Given the description of an element on the screen output the (x, y) to click on. 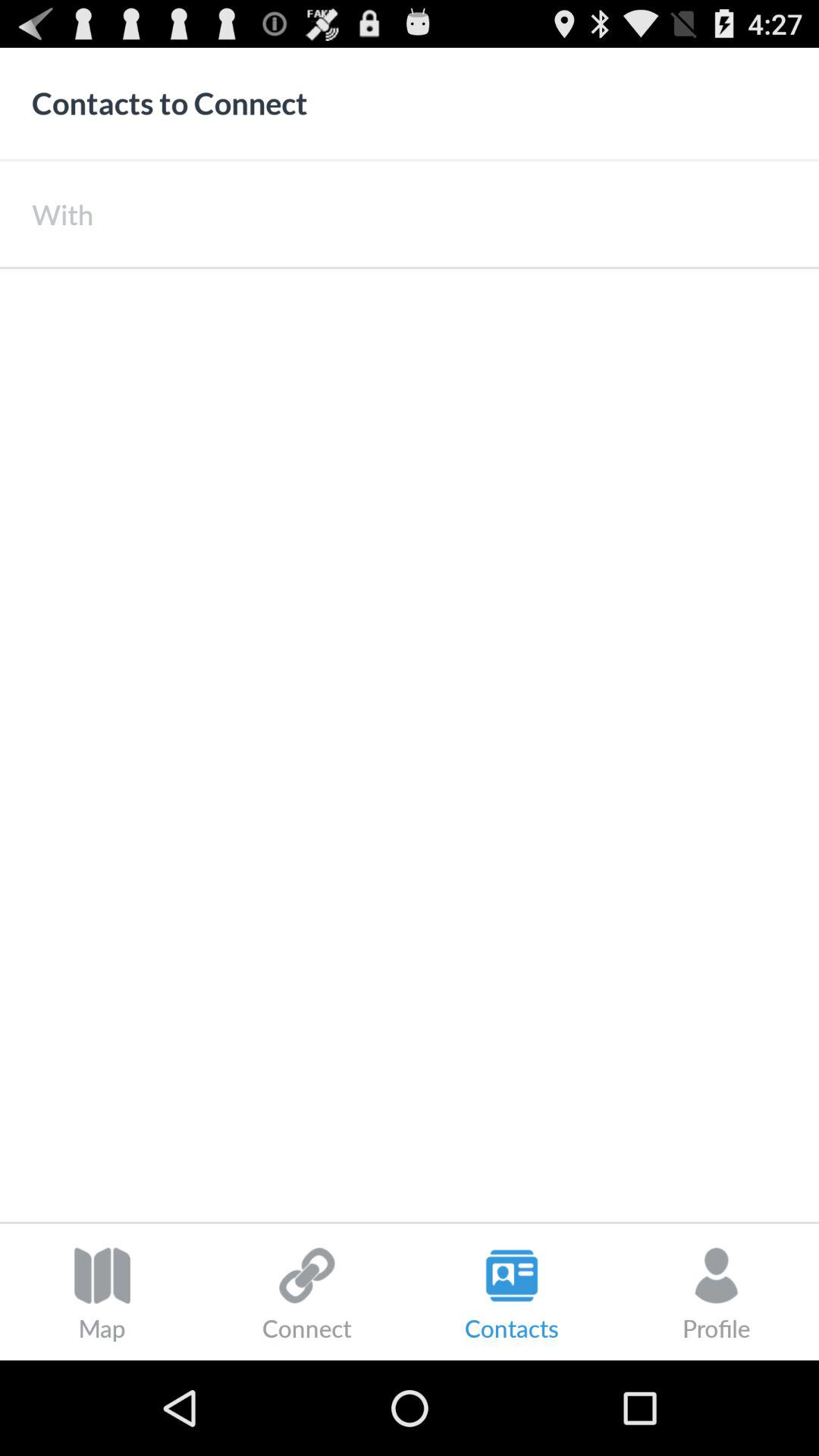
launch icon at the center (409, 745)
